Given the description of an element on the screen output the (x, y) to click on. 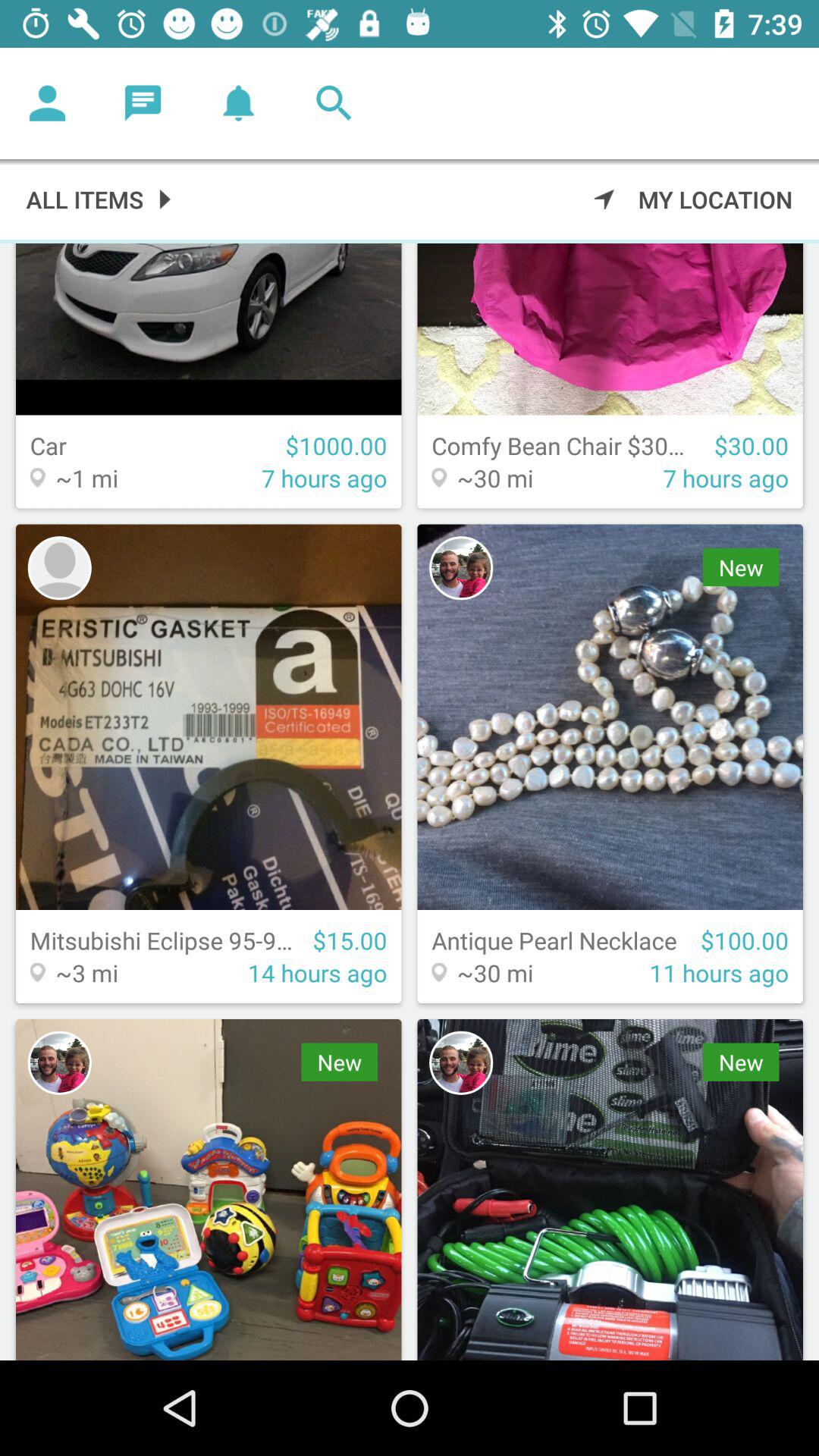
go to profile (47, 103)
